Given the description of an element on the screen output the (x, y) to click on. 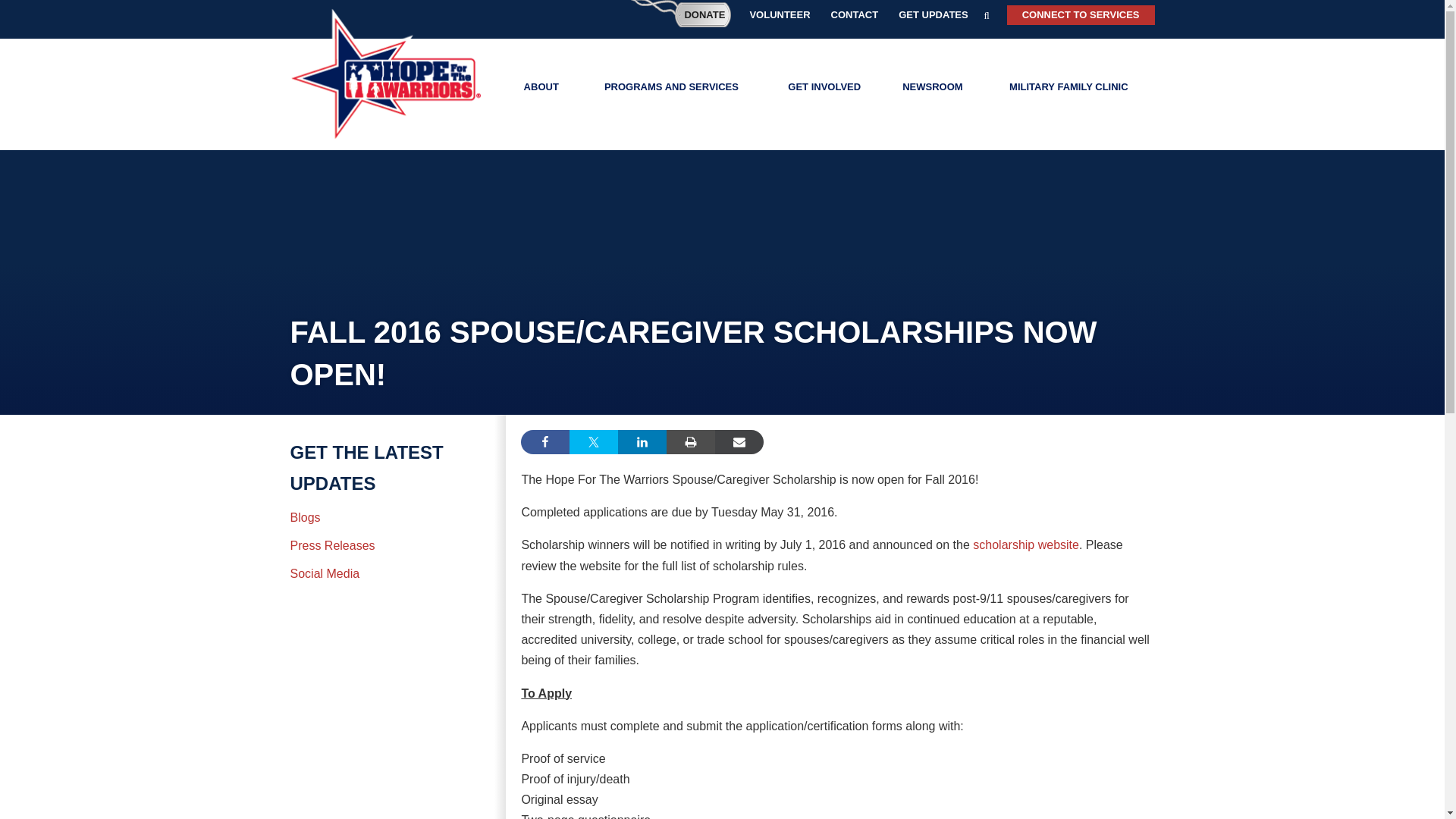
Share on Facebook (545, 441)
Share on LinkedIn (641, 441)
Share via Email (738, 441)
Share on Twitter (593, 441)
Print this Page (690, 441)
